Given the description of an element on the screen output the (x, y) to click on. 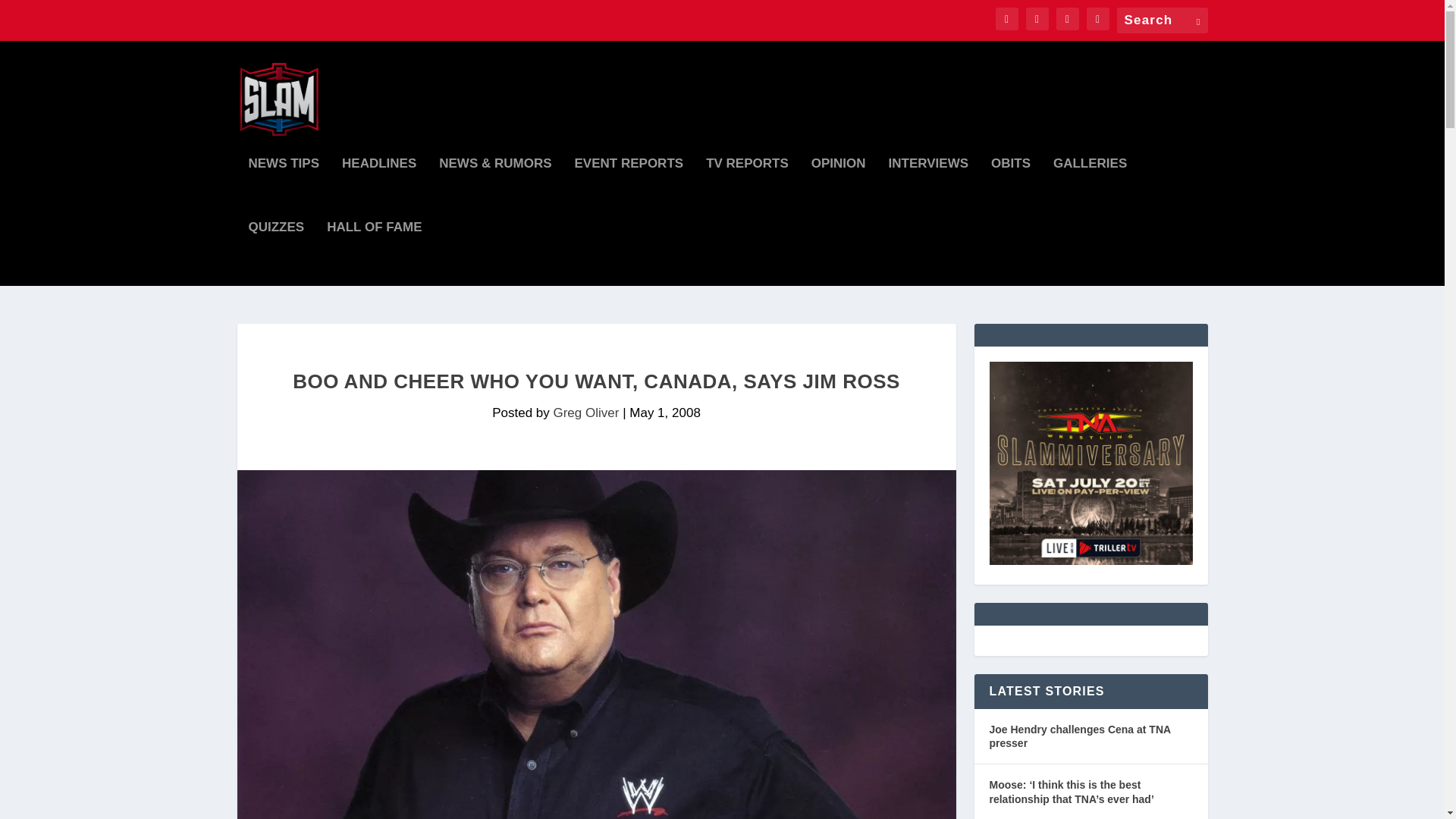
Search for: (1161, 20)
EVENT REPORTS (629, 189)
NEWS TIPS (284, 189)
TV REPORTS (747, 189)
HEADLINES (379, 189)
Posts by Greg Oliver (585, 412)
OPINION (838, 189)
Greg Oliver (585, 412)
INTERVIEWS (928, 189)
GALLERIES (1089, 189)
OBITS (1010, 189)
QUIZZES (276, 253)
HALL OF FAME (374, 253)
